Given the description of an element on the screen output the (x, y) to click on. 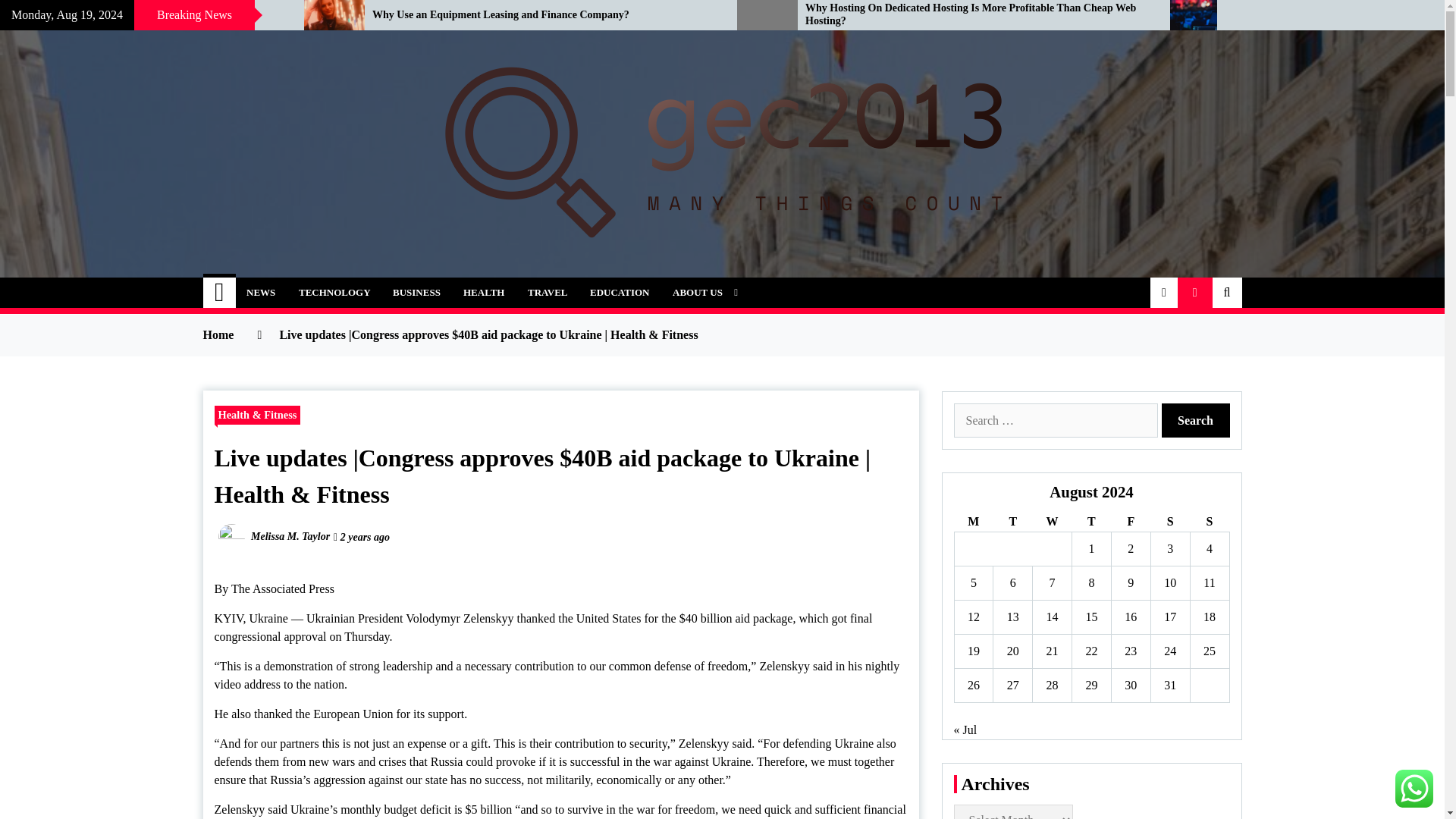
Thursday (1091, 521)
Saturday (1169, 521)
Monday (972, 521)
Love Gaming? Learn Why You Need Gaming News (140, 15)
Friday (1130, 521)
Sunday (1208, 521)
Wednesday (1051, 521)
Home (219, 292)
Search (1195, 420)
